Given the description of an element on the screen output the (x, y) to click on. 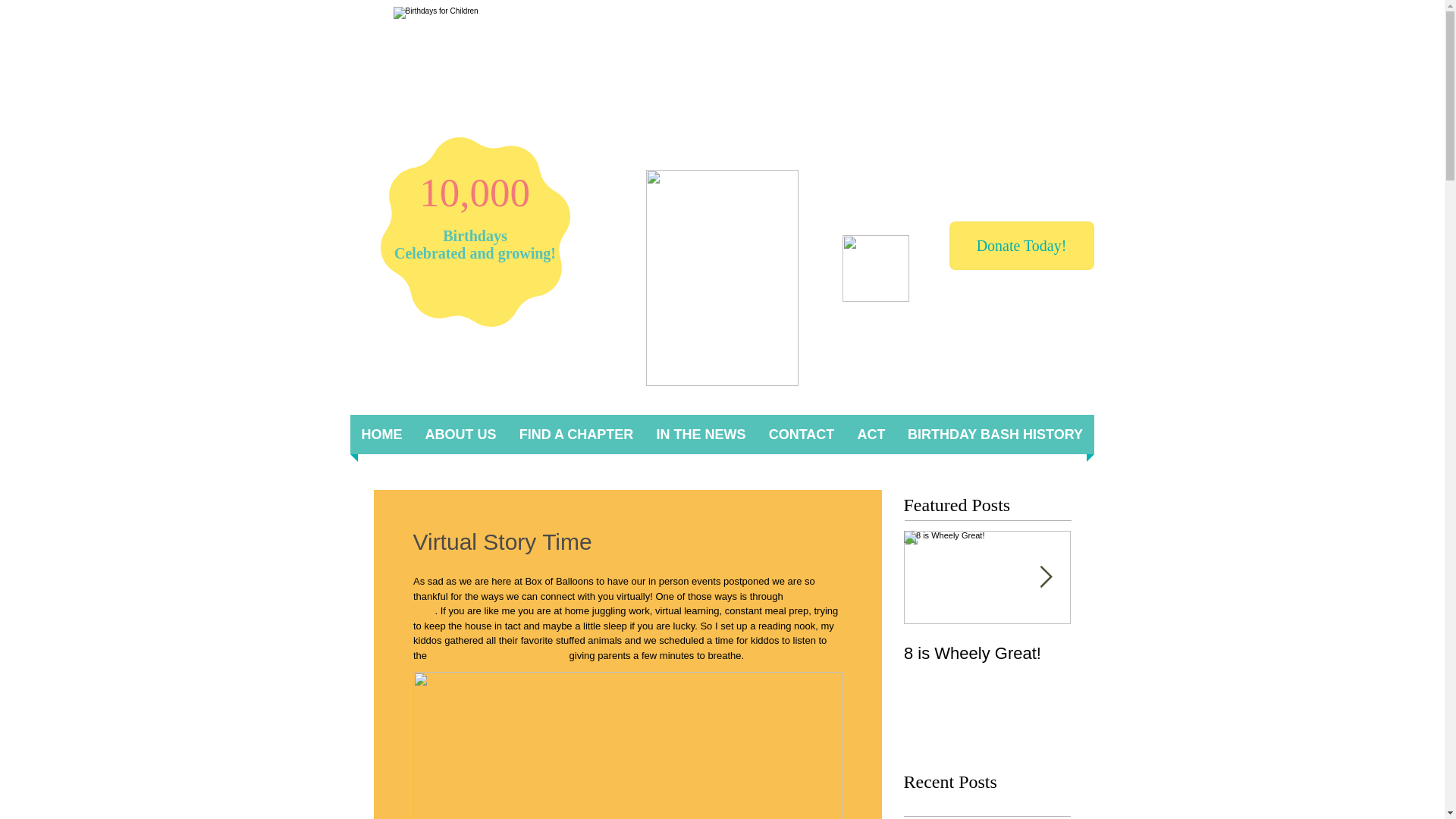
HOME (381, 434)
BIRTHDAY BASH HISTORY (994, 434)
Box of Balloons children's book (497, 654)
Virtual Story Time (626, 602)
Donate Today! (1021, 245)
